Given the description of an element on the screen output the (x, y) to click on. 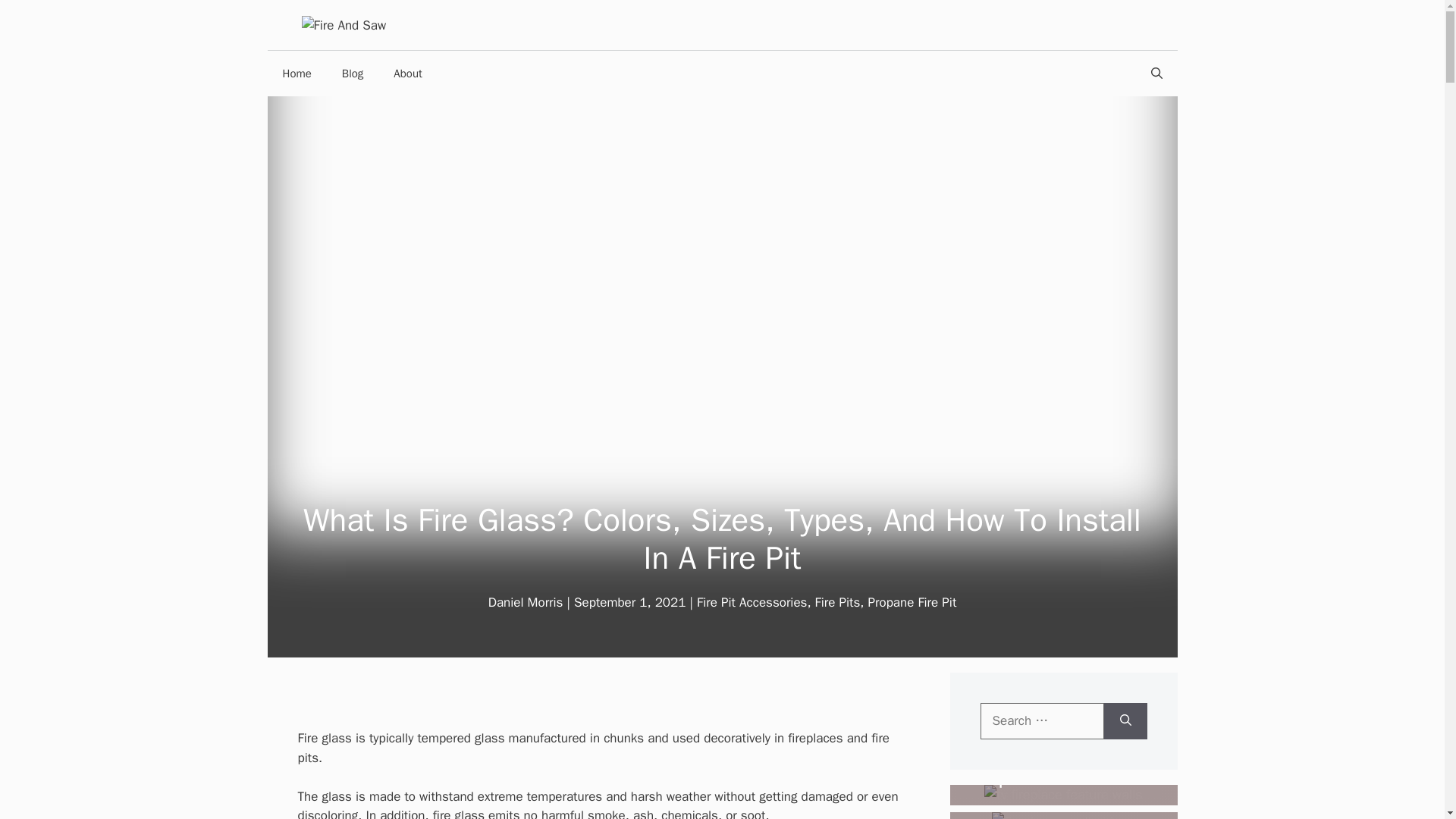
About (407, 73)
30 Tips for Using Candles Inside and Around Fireplaces (1054, 790)
Blog (352, 73)
Daniel Morris (525, 602)
Fire Pits (837, 602)
25 Stunning Fireplace TV Wall Ideas, Tips, and Inspiration (1043, 776)
Search for: (1041, 720)
25 Stunning Fireplace TV Wall Ideas, Tips, and Inspiration (1062, 794)
Home (296, 73)
Fire Pit Accessories (751, 602)
